Given the description of an element on the screen output the (x, y) to click on. 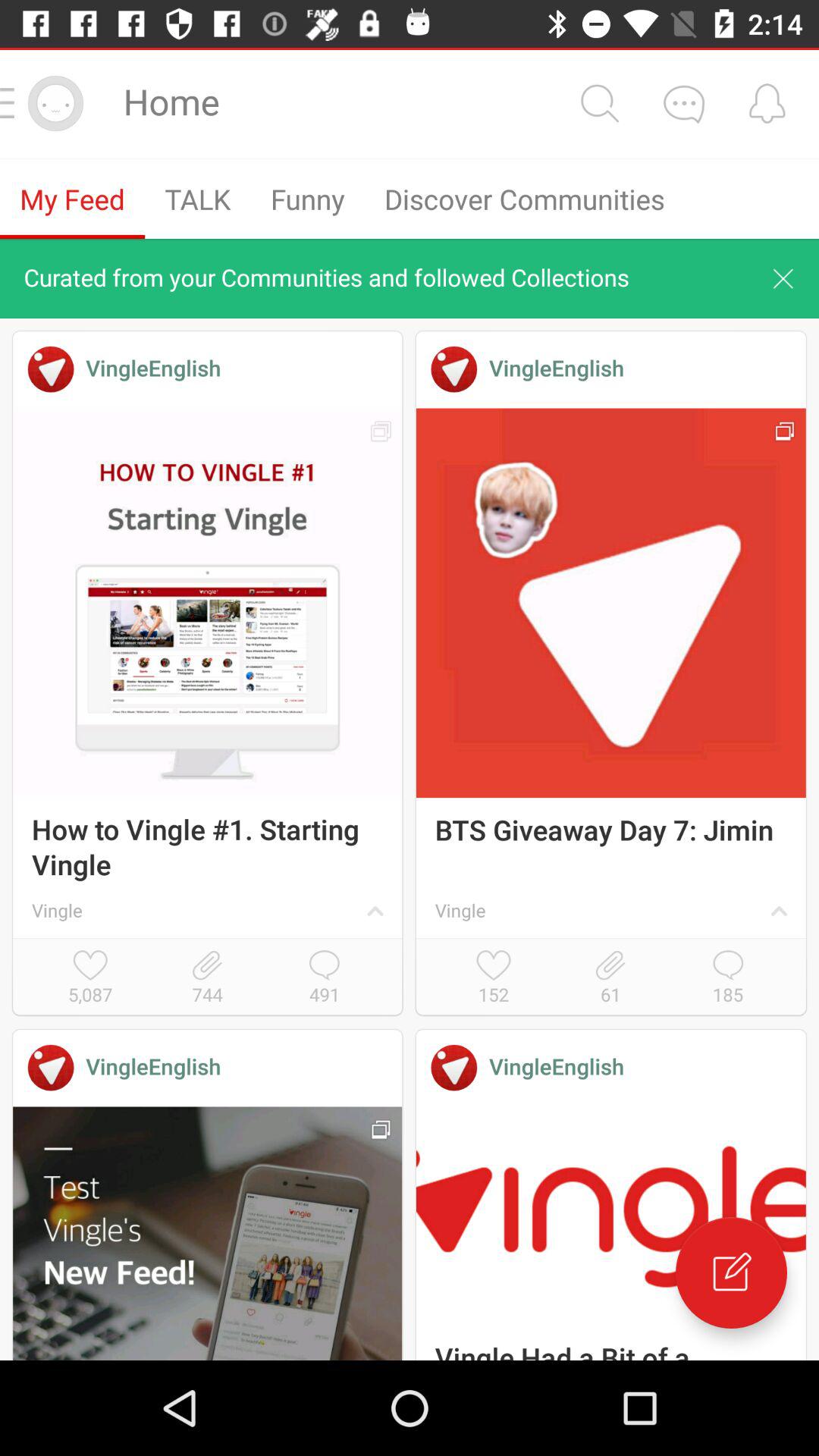
launch item above vingleenglish icon (207, 978)
